Given the description of an element on the screen output the (x, y) to click on. 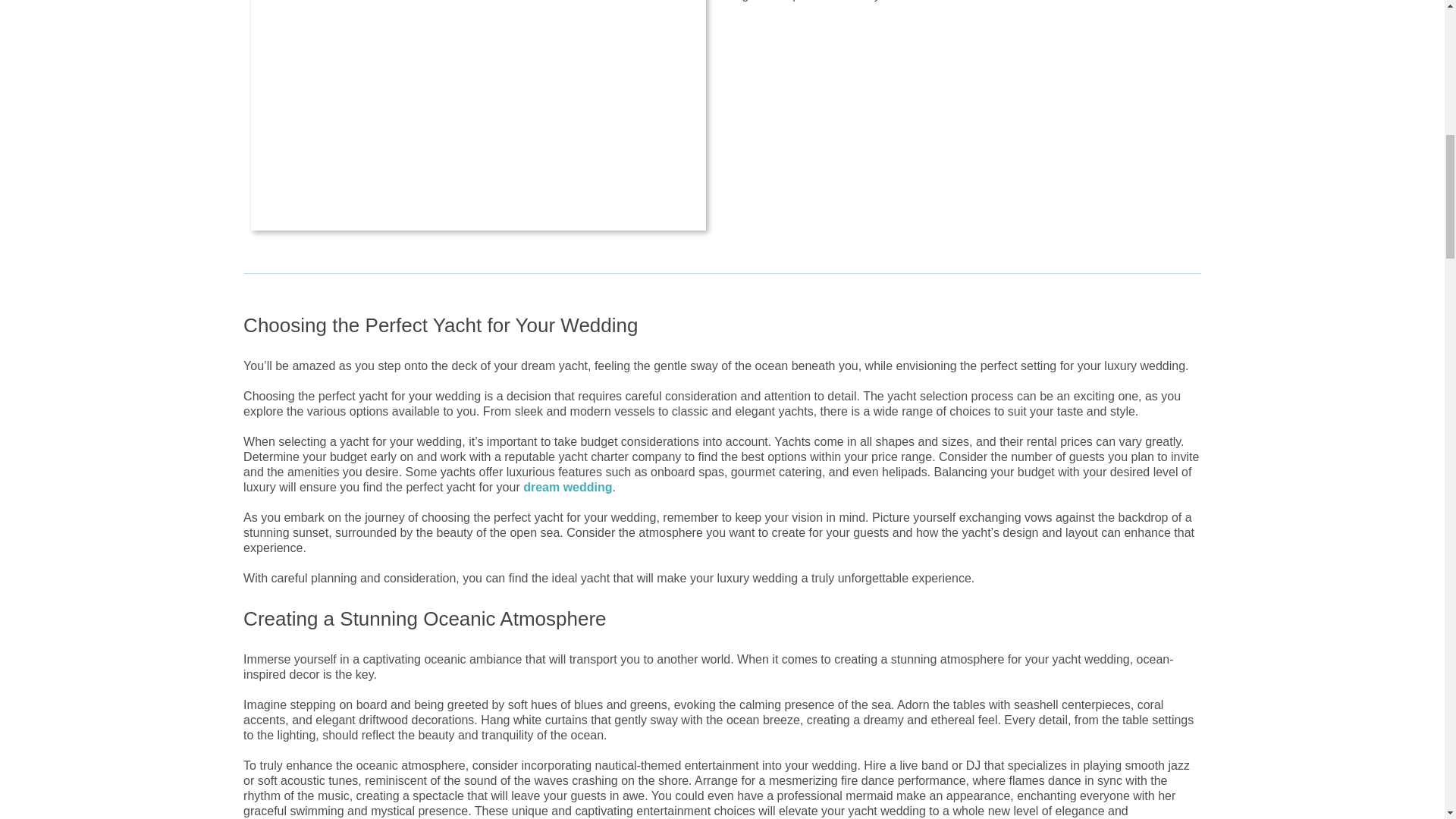
Weddings On Yachts (477, 113)
dream wedding (566, 486)
